Given the description of an element on the screen output the (x, y) to click on. 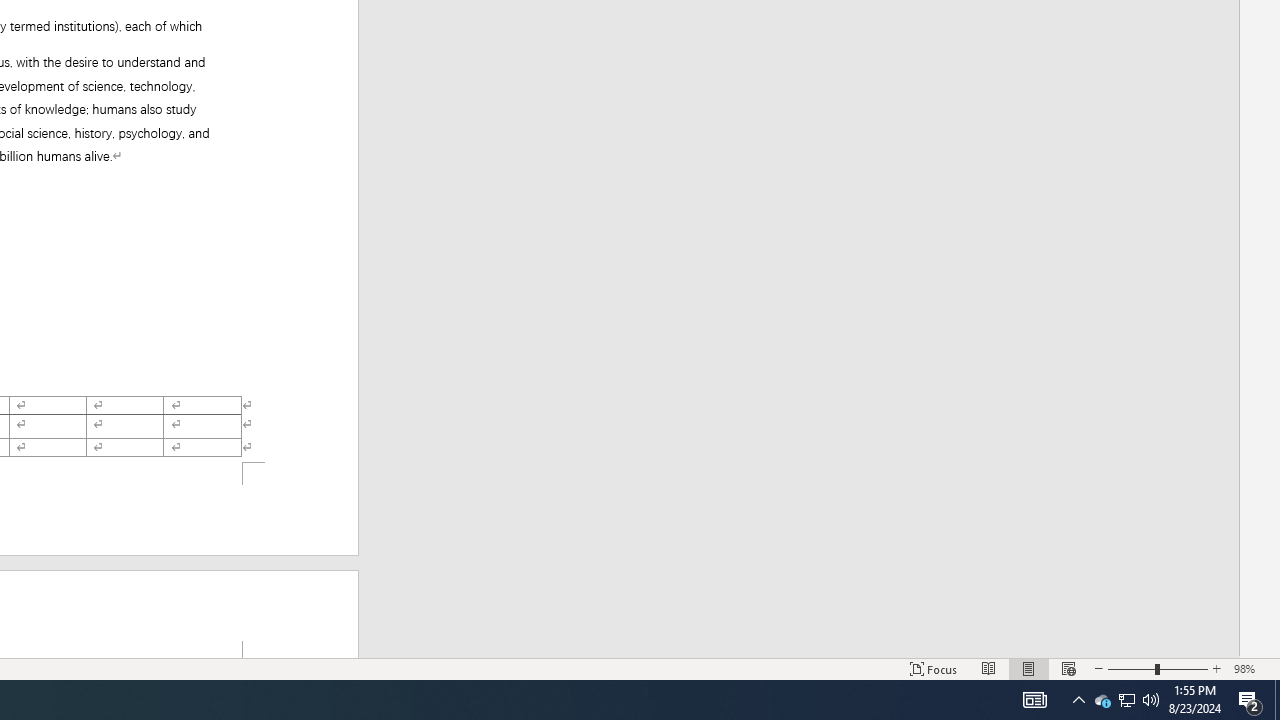
Q2790: 100% (1151, 699)
Zoom (1158, 668)
Notification Chevron (1078, 699)
User Promoted Notification Area (1102, 699)
Show desktop (1126, 699)
Action Center, 2 new notifications (1277, 699)
